Given the description of an element on the screen output the (x, y) to click on. 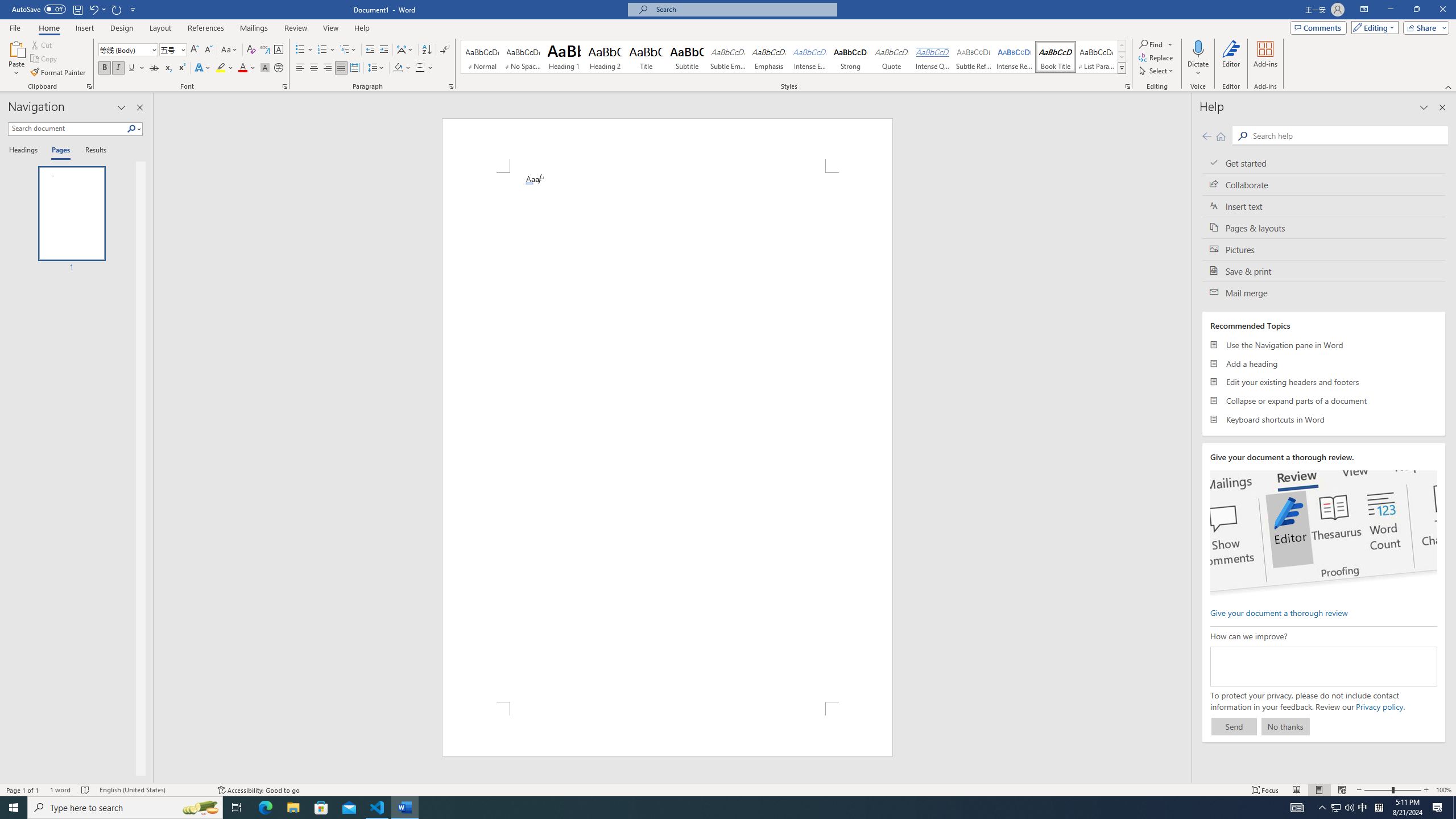
Repeat Style (117, 9)
Collaborate (1323, 184)
Quote (891, 56)
How can we improve? (1323, 666)
Book Title (1055, 56)
AutomationID: QuickStylesGallery (794, 56)
